Given the description of an element on the screen output the (x, y) to click on. 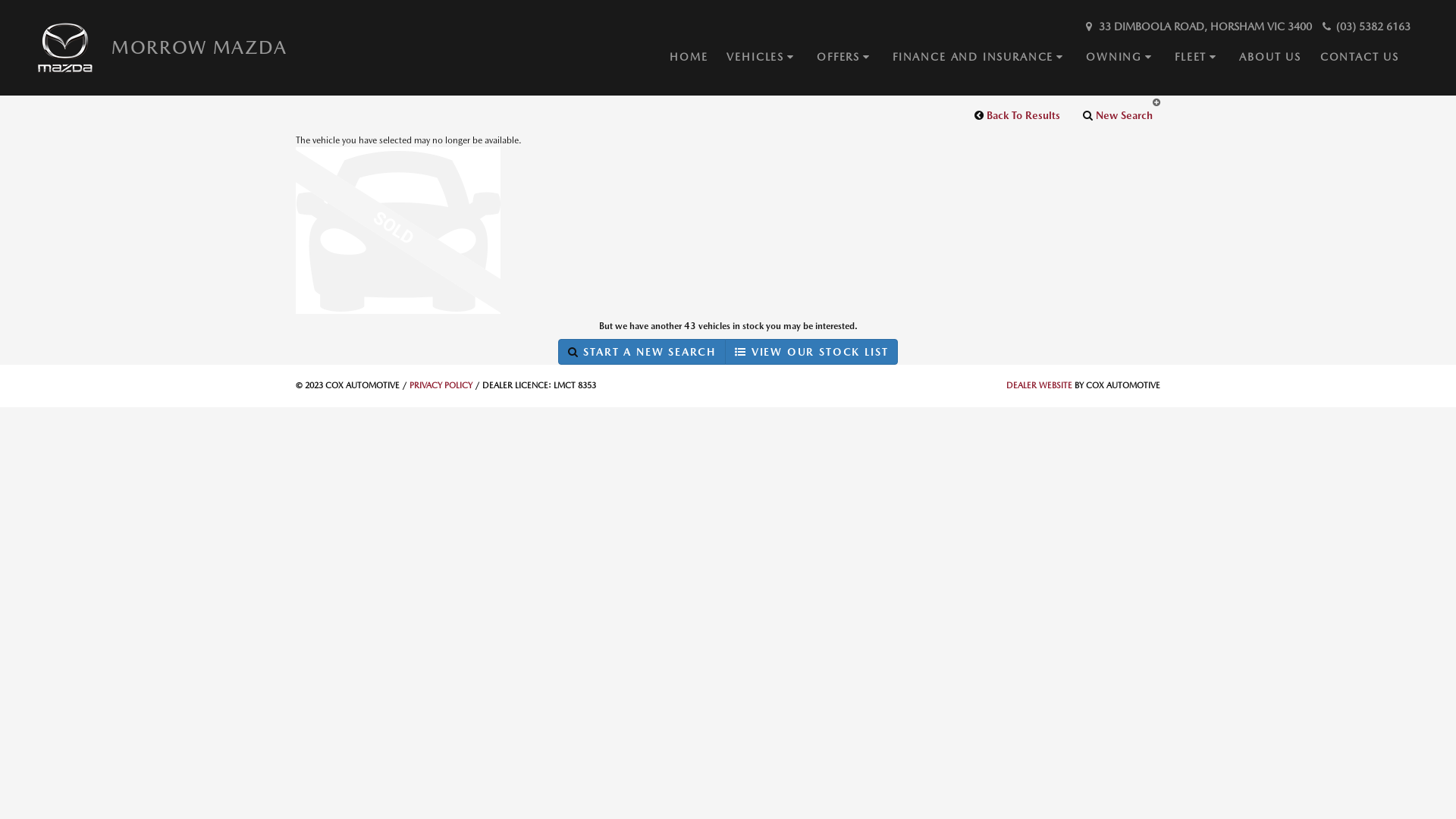
New Search Element type: text (1117, 115)
OFFERS Element type: text (854, 56)
FINANCE AND INSURANCE Element type: text (988, 56)
START A NEW SEARCH Element type: text (641, 351)
CONTACT US Element type: text (1369, 56)
OWNING Element type: text (1129, 56)
PRIVACY POLICY Element type: text (440, 385)
HOME Element type: text (697, 56)
VEHICLES Element type: text (771, 56)
33 DIMBOOLA ROAD, HORSHAM VIC 3400 Element type: text (1196, 26)
DEALER WEBSITE Element type: text (1039, 385)
Back To Results Element type: text (1017, 115)
FLEET Element type: text (1206, 56)
VIEW OUR STOCK LIST Element type: text (810, 351)
ABOUT US Element type: text (1279, 56)
(03) 5382 6163 Element type: text (1364, 26)
